Given the description of an element on the screen output the (x, y) to click on. 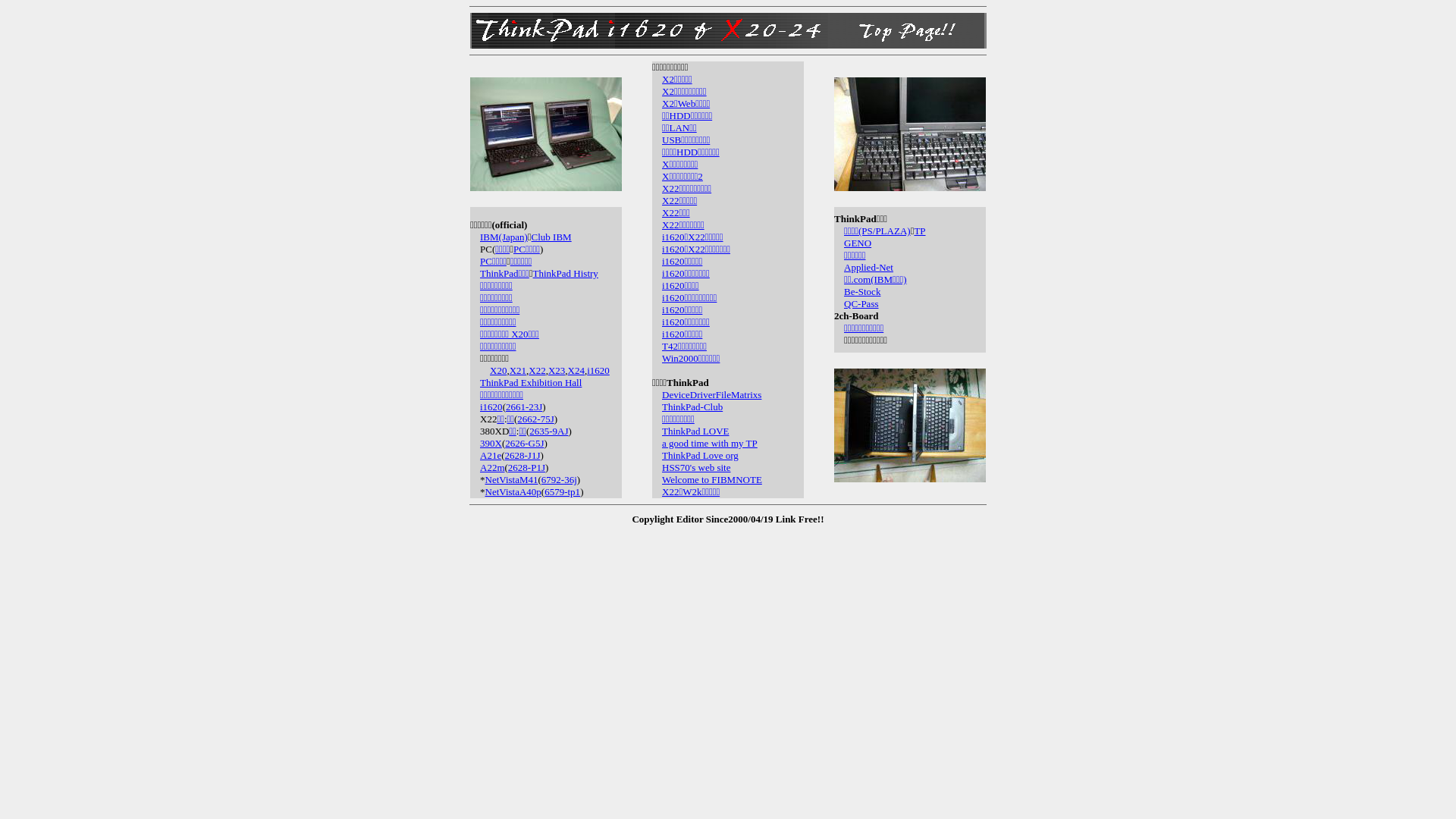
A21e Element type: text (490, 454)
2628-P1J Element type: text (526, 466)
X23 Element type: text (556, 369)
ThinkPad LOVE Element type: text (695, 429)
Be-Stock Element type: text (862, 290)
TP Element type: text (919, 229)
HSS70's web site Element type: text (696, 466)
IBM(Japan) Element type: text (503, 235)
ThinkPad Histry Element type: text (565, 272)
390X Element type: text (491, 442)
Club IBM Element type: text (551, 235)
X20 Element type: text (497, 369)
a good time with my TP Element type: text (709, 442)
QC-Pass Element type: text (861, 302)
i1620 Element type: text (597, 369)
DeviceDriverFileMatrixs Element type: text (711, 393)
ThinkPad Love org Element type: text (700, 454)
6792-36j Element type: text (559, 478)
ThinkPad Exhibition Hall Element type: text (530, 381)
2628-J1J Element type: text (522, 454)
X21 Element type: text (517, 369)
X24 Element type: text (575, 369)
GENO Element type: text (857, 241)
NetVistaM41 Element type: text (511, 478)
i1620 Element type: text (491, 405)
Applied-Net Element type: text (868, 266)
2626-G5J Element type: text (524, 442)
A22m Element type: text (492, 466)
NetVistaA40p Element type: text (513, 490)
ThinkPad-Club Element type: text (692, 405)
X22 Element type: text (536, 369)
Welcome to FIBMNOTE Element type: text (712, 478)
2662-75J Element type: text (535, 417)
2661-23J Element type: text (523, 405)
2635-9AJ Element type: text (548, 429)
6579-tp1 Element type: text (562, 490)
